Given the description of an element on the screen output the (x, y) to click on. 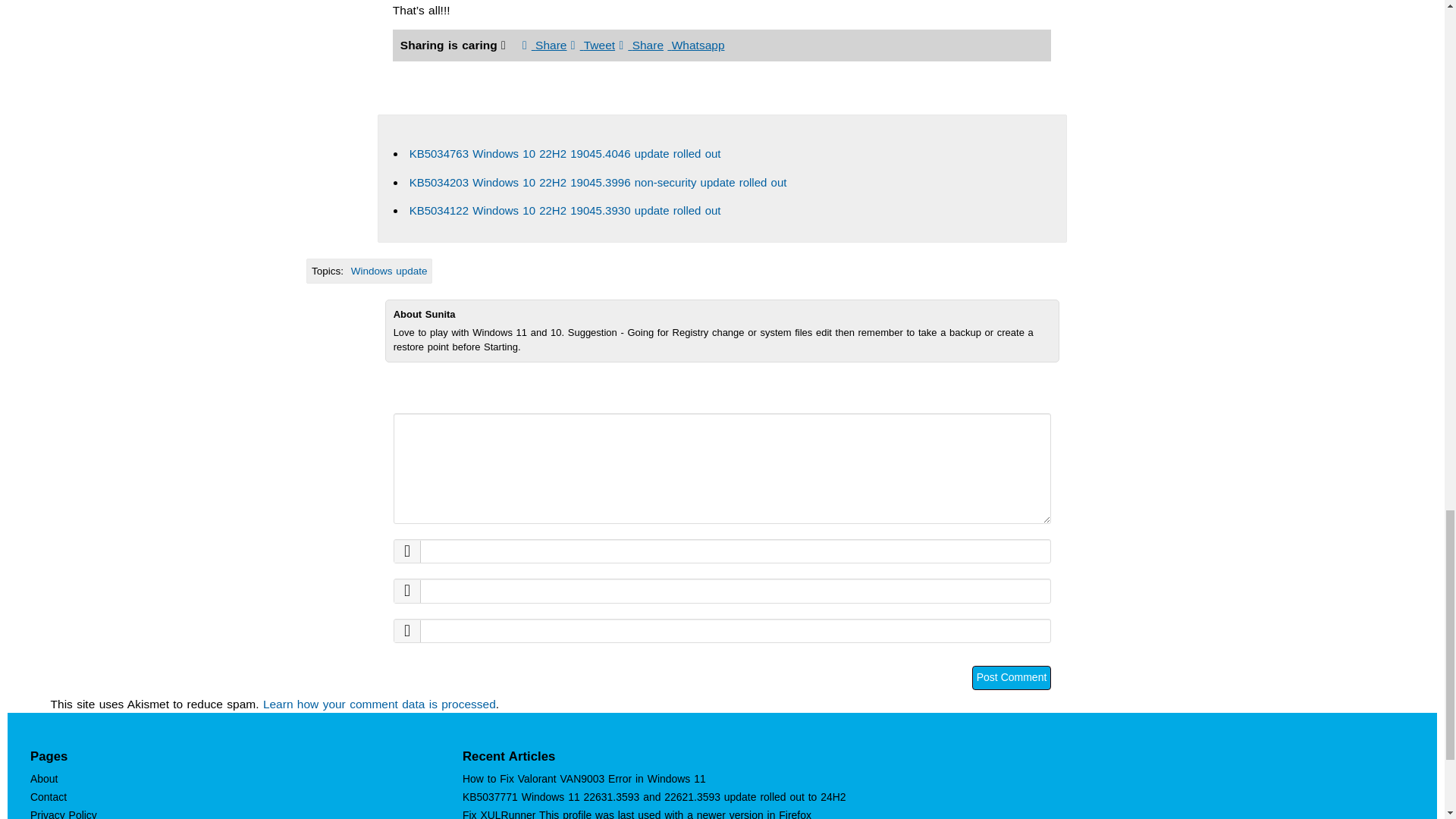
Share (640, 44)
Share (544, 44)
KB5034763 Windows 10 22H2 19045.4046 update rolled out (564, 153)
Post Comment (1011, 677)
Post Comment (1011, 677)
Privacy Policy (63, 814)
KB5034122 Windows 10 22H2 19045.3930 update rolled out (564, 210)
About (44, 778)
Windows update (389, 270)
Contact (48, 797)
How to Fix Valorant VAN9003 Error in Windows 11 (584, 778)
Tweet (592, 44)
